Given the description of an element on the screen output the (x, y) to click on. 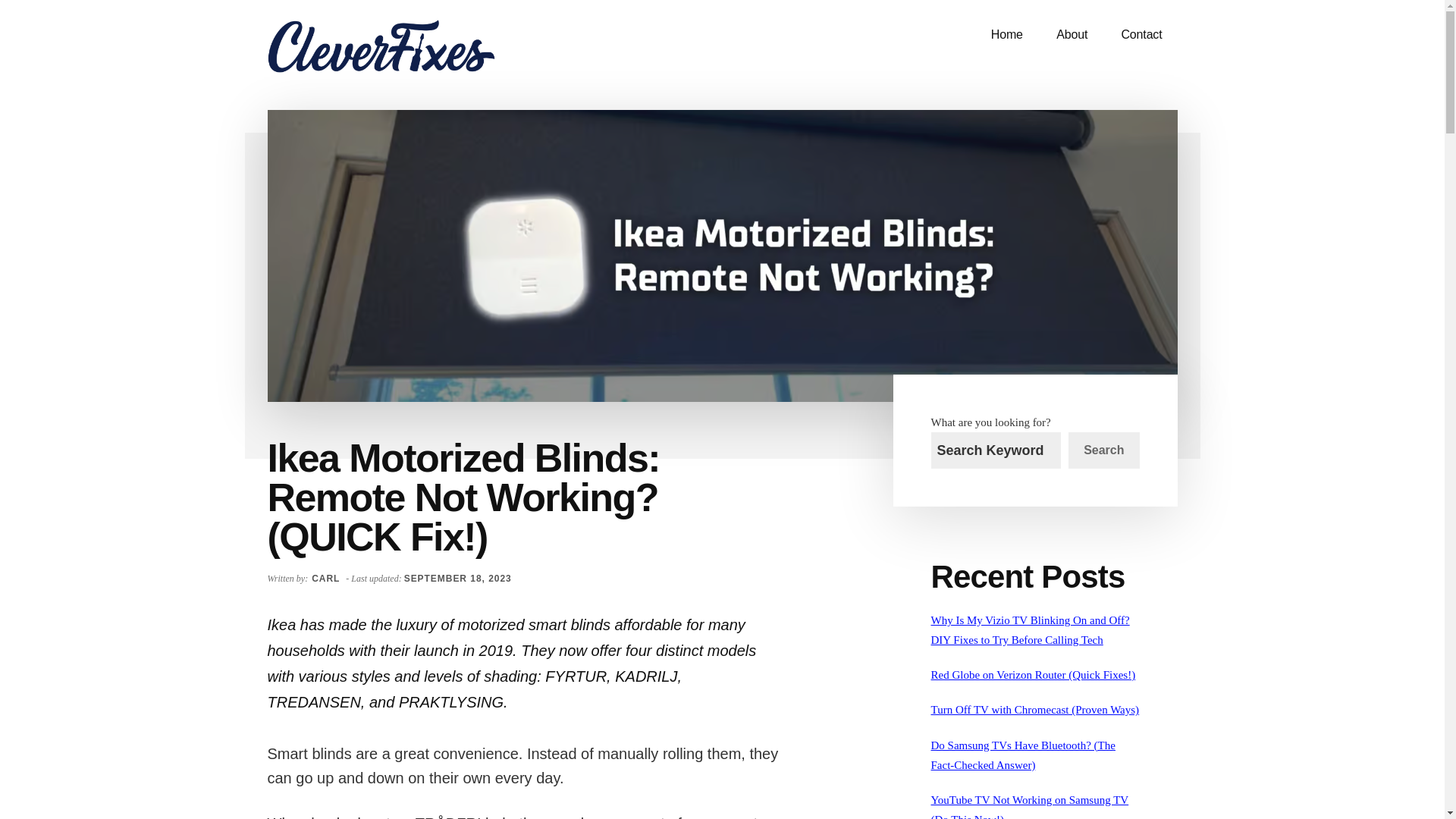
About (1071, 34)
Home (1006, 34)
Search (1103, 450)
Contact (1140, 34)
